Given the description of an element on the screen output the (x, y) to click on. 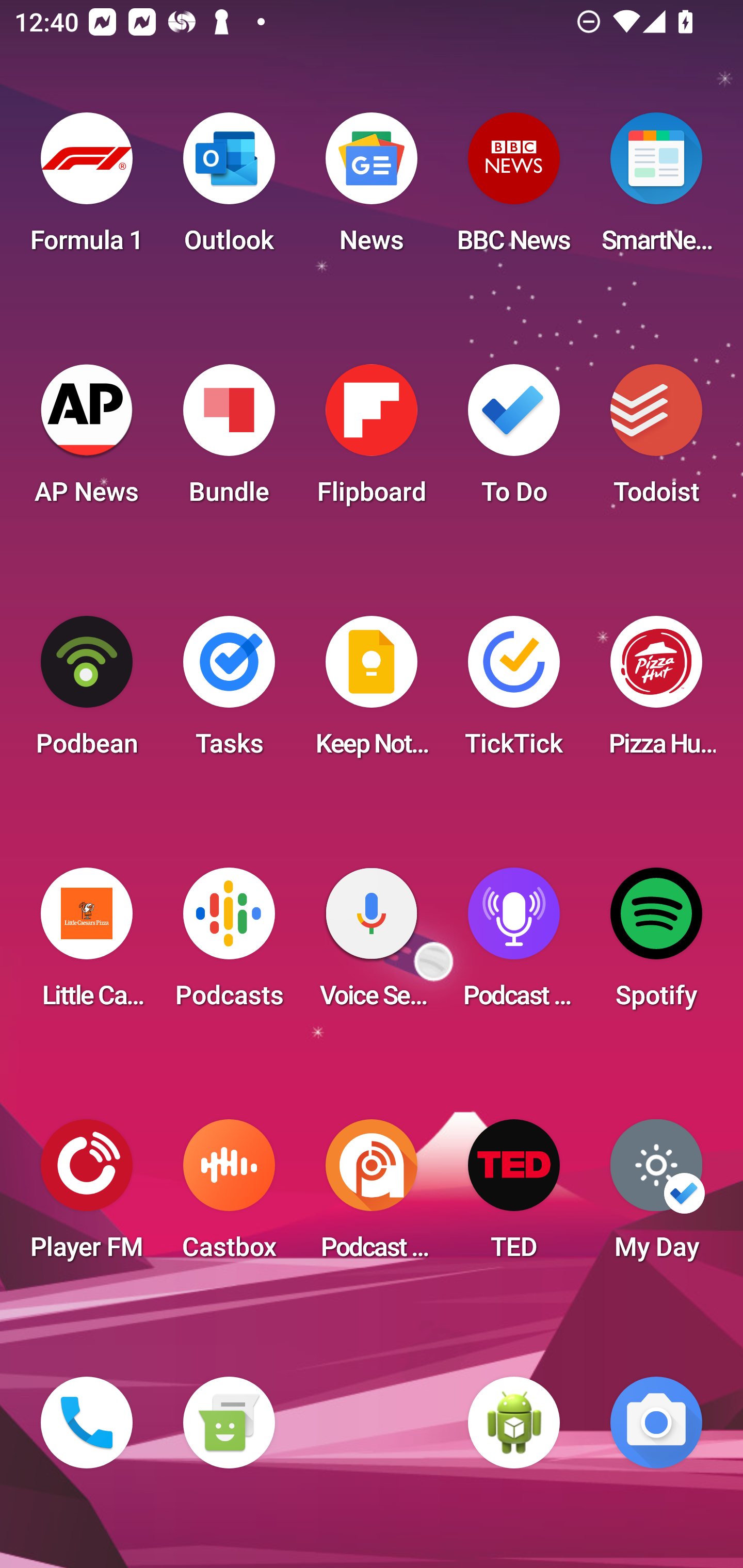
Formula 1 (86, 188)
Outlook (228, 188)
News (371, 188)
BBC News (513, 188)
SmartNews (656, 188)
AP News (86, 440)
Bundle (228, 440)
Flipboard (371, 440)
To Do (513, 440)
Todoist (656, 440)
Podbean (86, 692)
Tasks (228, 692)
Keep Notes (371, 692)
TickTick (513, 692)
Pizza Hut HK & Macau (656, 692)
Little Caesars Pizza (86, 943)
Podcasts (228, 943)
Voice Search (371, 943)
Podcast Player (513, 943)
Spotify (656, 943)
Player FM (86, 1195)
Castbox (228, 1195)
Podcast Addict (371, 1195)
TED (513, 1195)
My Day (656, 1195)
Phone (86, 1422)
Messaging (228, 1422)
WebView Browser Tester (513, 1422)
Camera (656, 1422)
